Given the description of an element on the screen output the (x, y) to click on. 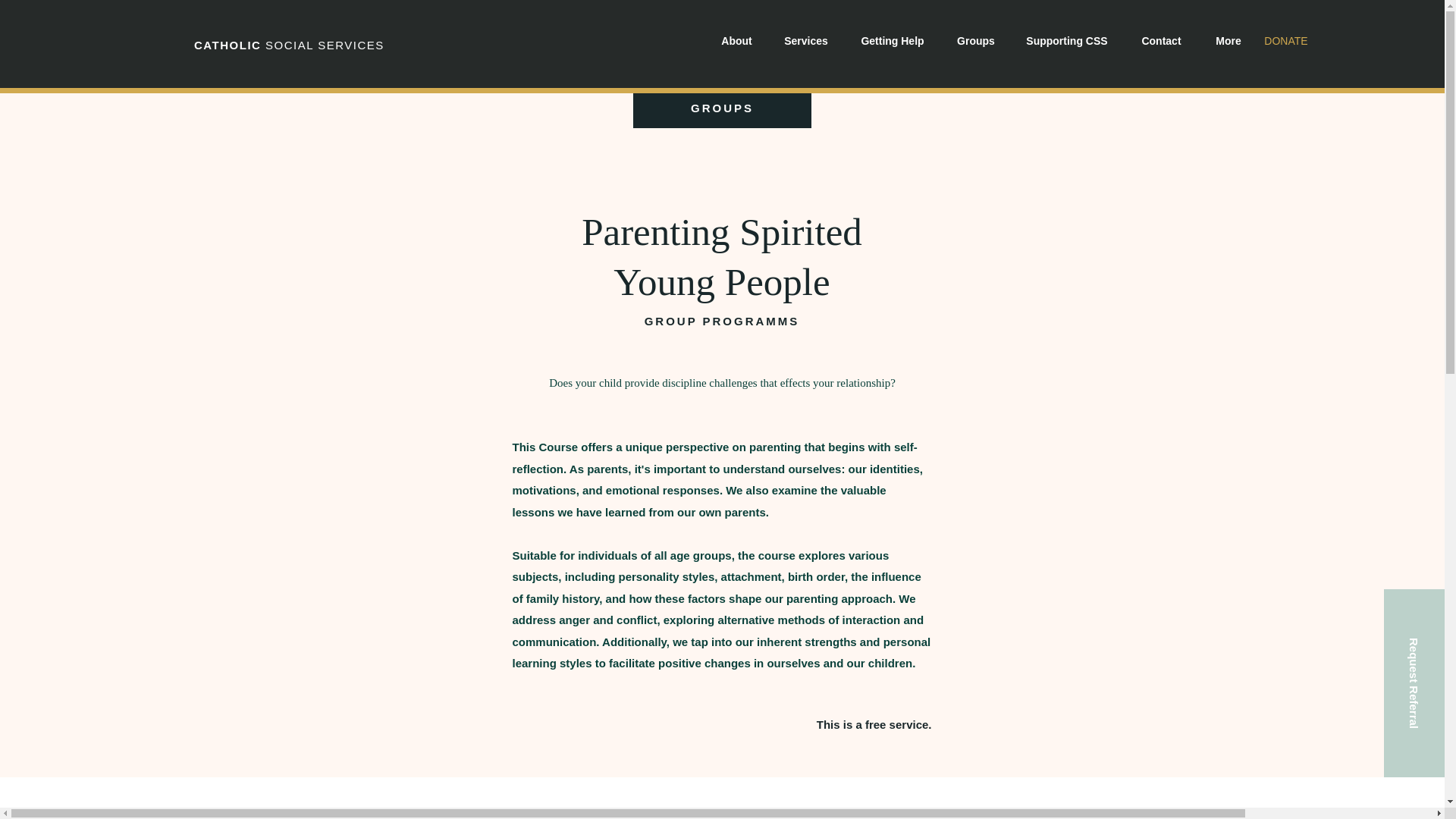
Request Referral (1420, 619)
Supporting CSS (1066, 40)
CATHOLIC SOCIAL SERVICES (288, 44)
Services (806, 40)
Contact (1160, 40)
Getting Help (892, 40)
About (736, 40)
DONATE (1286, 41)
Groups (975, 40)
